Given the description of an element on the screen output the (x, y) to click on. 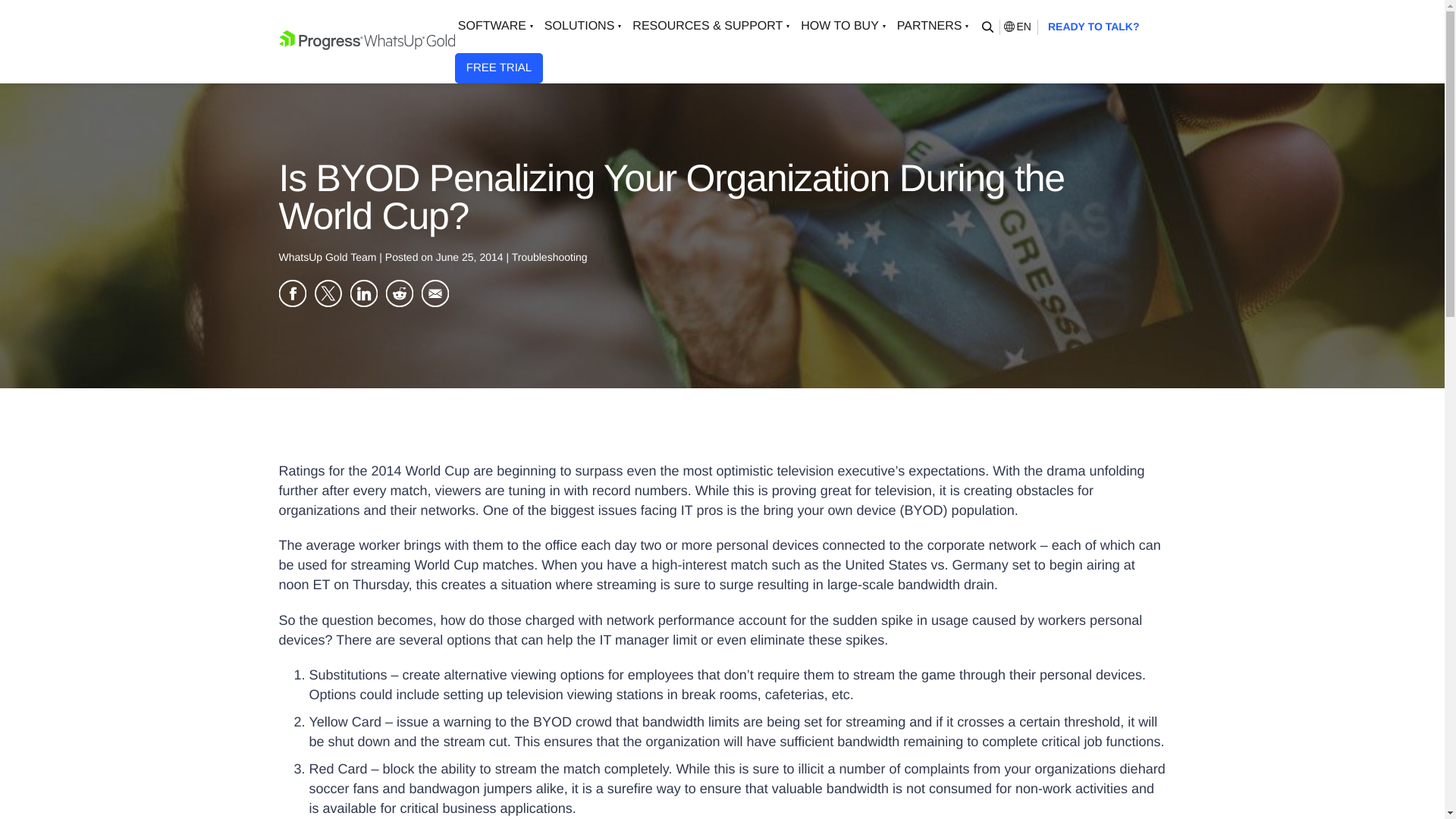
SOLUTIONS (584, 26)
Email (435, 293)
Reddit (399, 293)
Troubleshooting (550, 256)
View all posts by WhatsUp Gold Team (329, 256)
SOFTWARE (497, 26)
SKIP NAVIGATION (366, 40)
Facebook (292, 293)
Linkedin (363, 293)
